Given the description of an element on the screen output the (x, y) to click on. 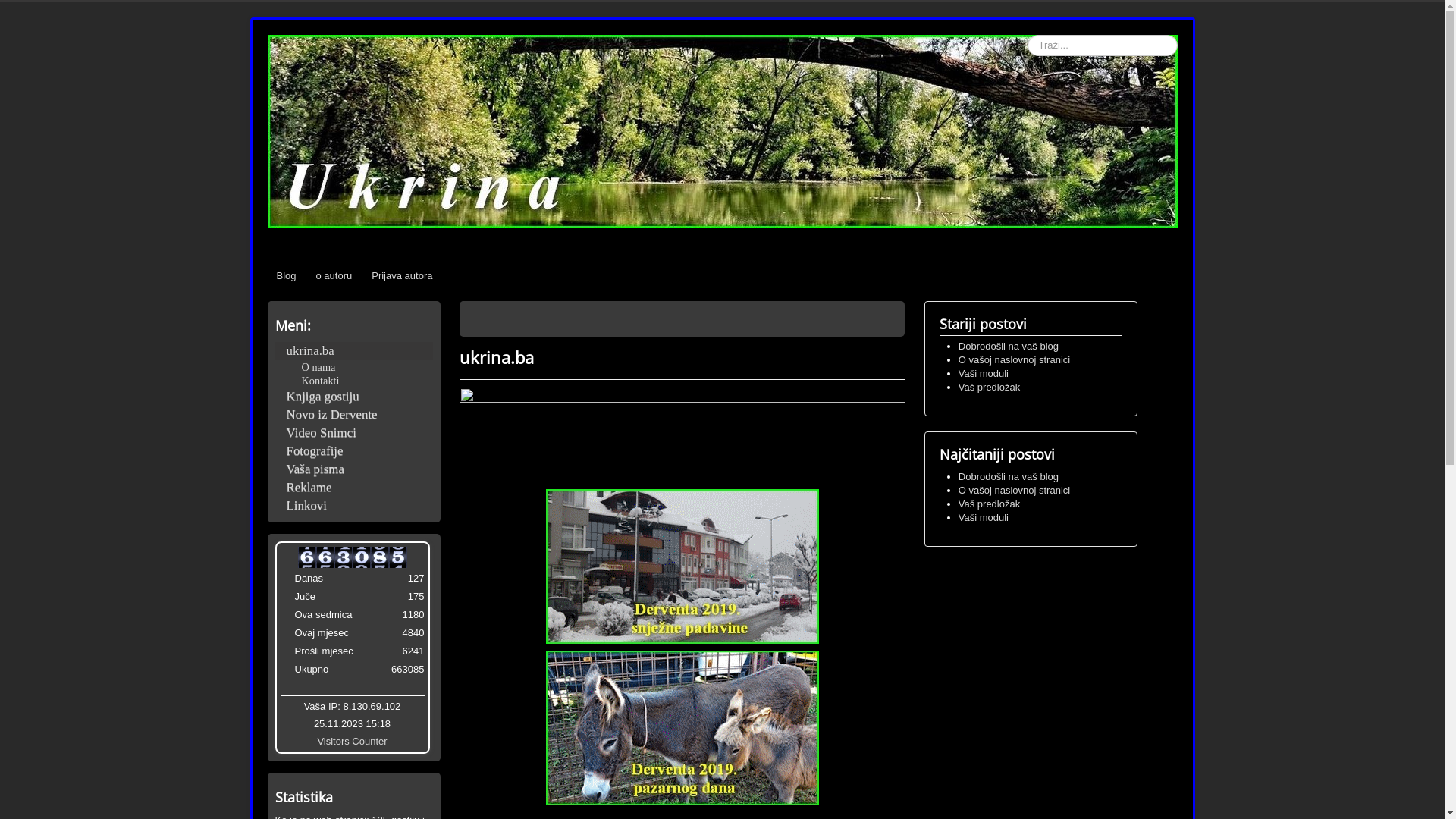
Novo iz Dervente Element type: text (353, 414)
ukrina.ba Element type: text (353, 351)
Video Snimci Element type: text (353, 432)
Prijava autora Element type: text (401, 275)
o autoru Element type: text (334, 275)
2023-11-20 Element type: hover (285, 617)
Fotografije Element type: text (353, 451)
2023-10-01 Element type: hover (285, 653)
2023-11-01 Element type: hover (285, 635)
O nama Element type: text (318, 366)
Blog Element type: text (285, 275)
Reklame Element type: text (353, 487)
2023-11-24 Element type: hover (285, 598)
Visitors Counter Element type: text (351, 740)
2023-11-25 Element type: hover (285, 580)
Knjiga gostiju Element type: text (353, 396)
Linkovi Element type: text (353, 505)
Kontakti Element type: text (320, 380)
